Given the description of an element on the screen output the (x, y) to click on. 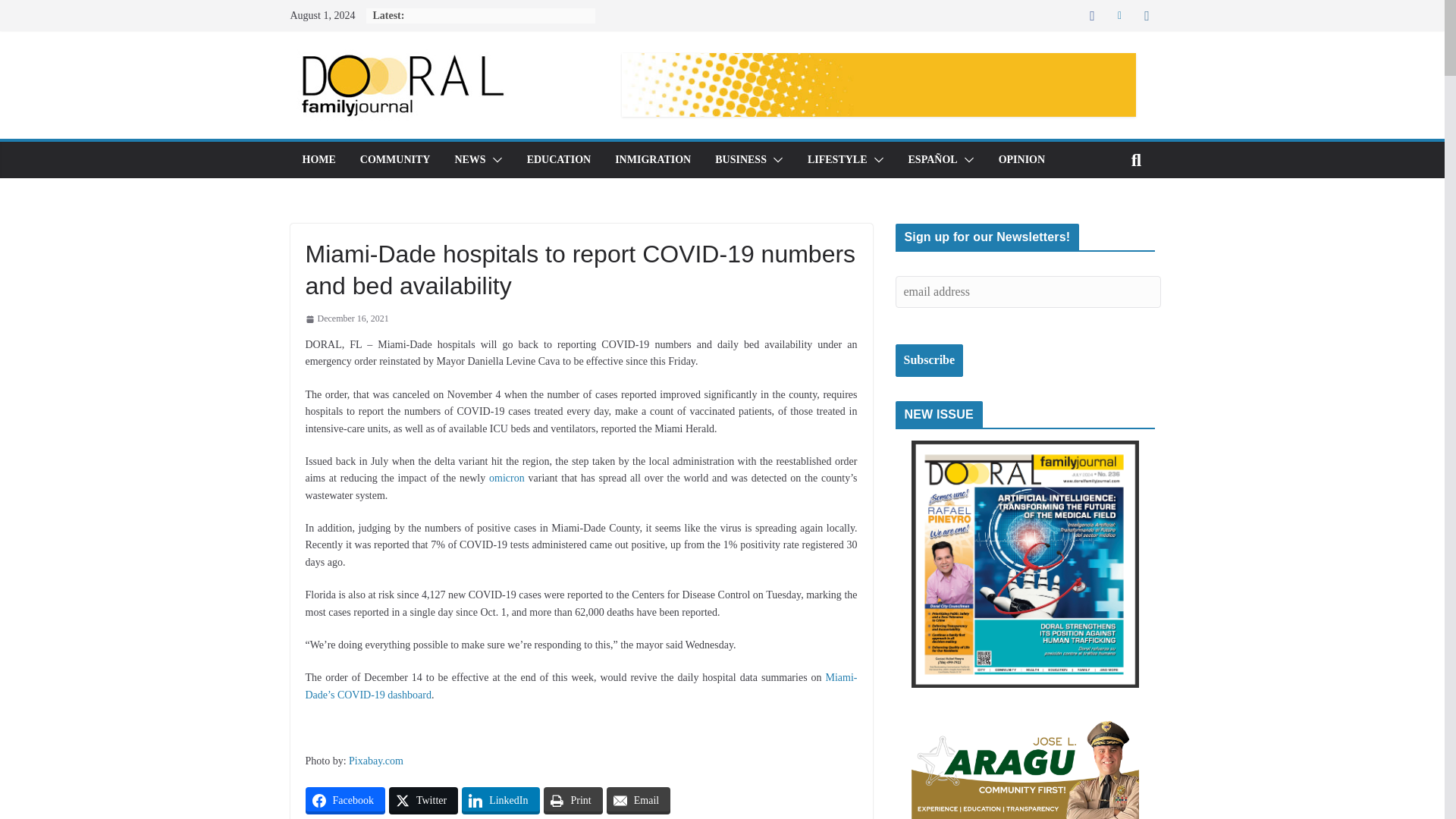
Share on Facebook (344, 800)
LIFESTYLE (837, 159)
Share on Print (572, 800)
Share on LinkedIn (499, 800)
1:21 pm (346, 319)
EDUCATION (559, 159)
COMMUNITY (394, 159)
HOME (317, 159)
BUSINESS (740, 159)
Subscribe (928, 359)
